Given the description of an element on the screen output the (x, y) to click on. 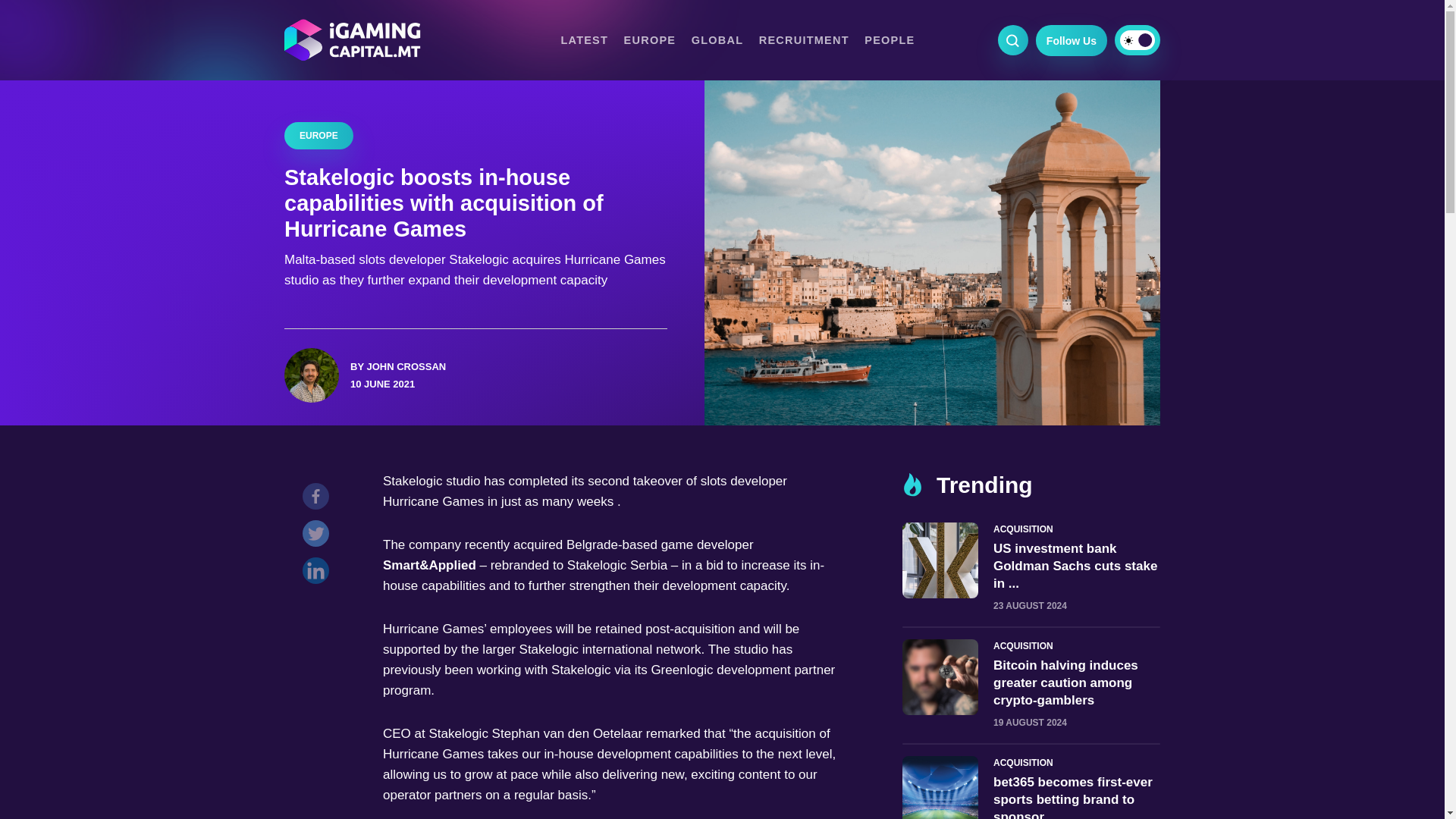
EUROPE (318, 135)
ACQUISITION (1076, 529)
Twitter (319, 537)
EUROPE (650, 39)
PEOPLE (889, 39)
LATEST (584, 39)
ACQUISITION (1076, 762)
US investment bank Goldman Sachs cuts stake in ... (1074, 565)
Linkedin (319, 574)
